Given the description of an element on the screen output the (x, y) to click on. 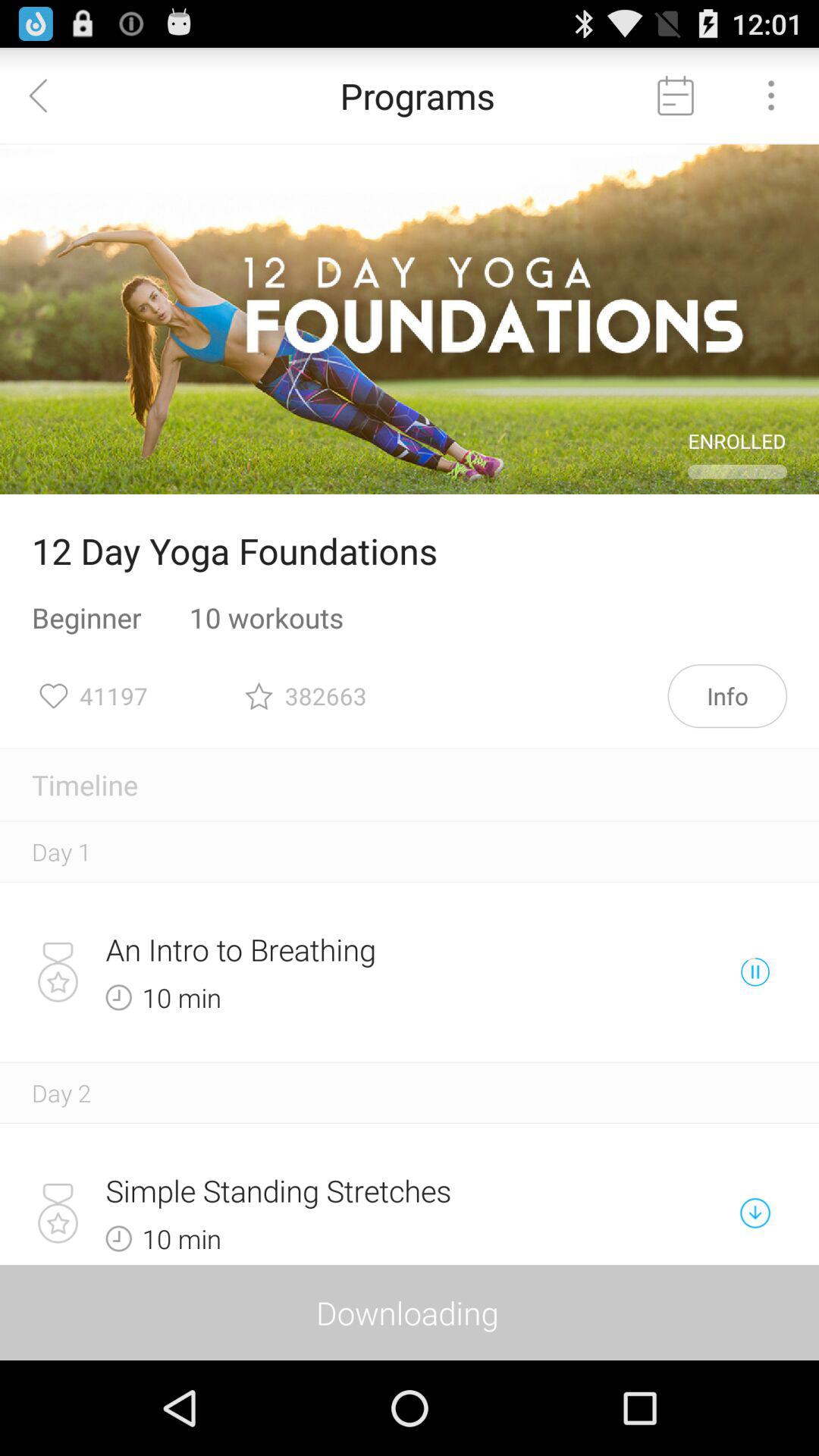
setting details (771, 95)
